Given the description of an element on the screen output the (x, y) to click on. 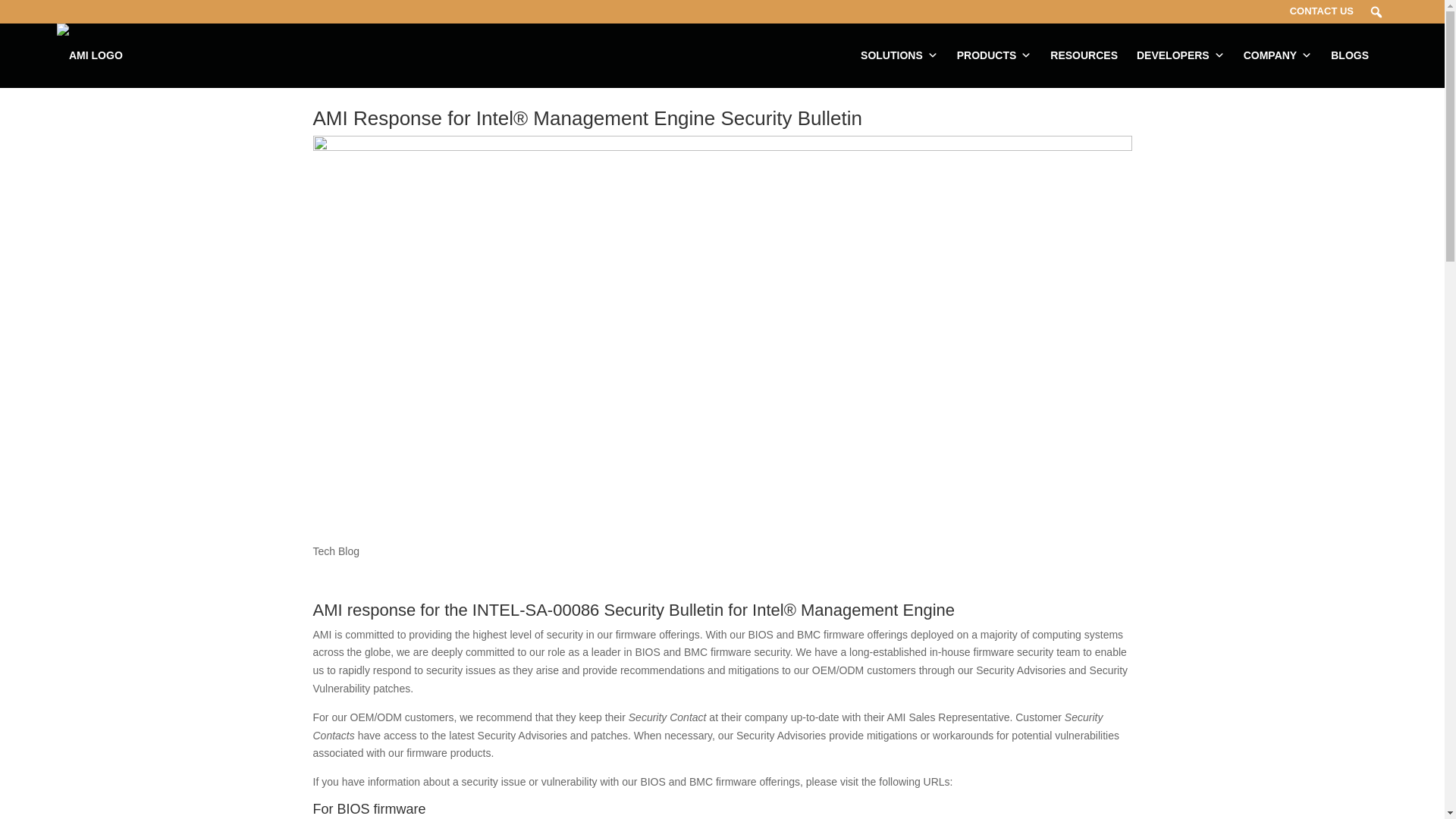
DEVELOPERS (1184, 55)
SOLUTIONS (902, 55)
RESOURCES (1087, 55)
CONTACT US (1321, 11)
COMPANY (1281, 55)
PRODUCTS (997, 55)
Search (11, 7)
